Given the description of an element on the screen output the (x, y) to click on. 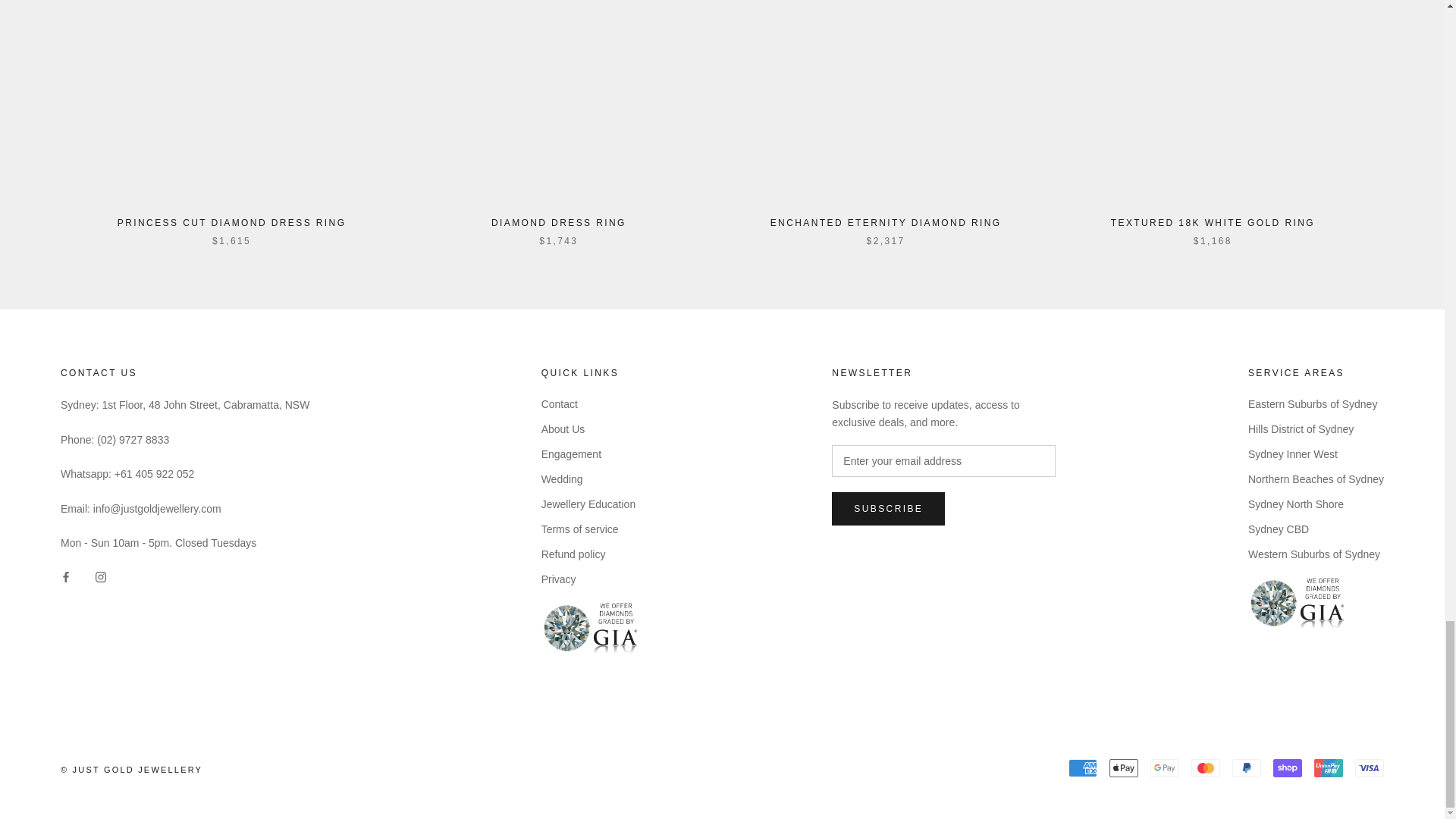
Apple Pay (1123, 768)
Union Pay (1328, 768)
Shop Pay (1286, 768)
PayPal (1245, 768)
American Express (1082, 768)
Visa (1369, 768)
Google Pay (1164, 768)
Mastercard (1205, 768)
